Given the description of an element on the screen output the (x, y) to click on. 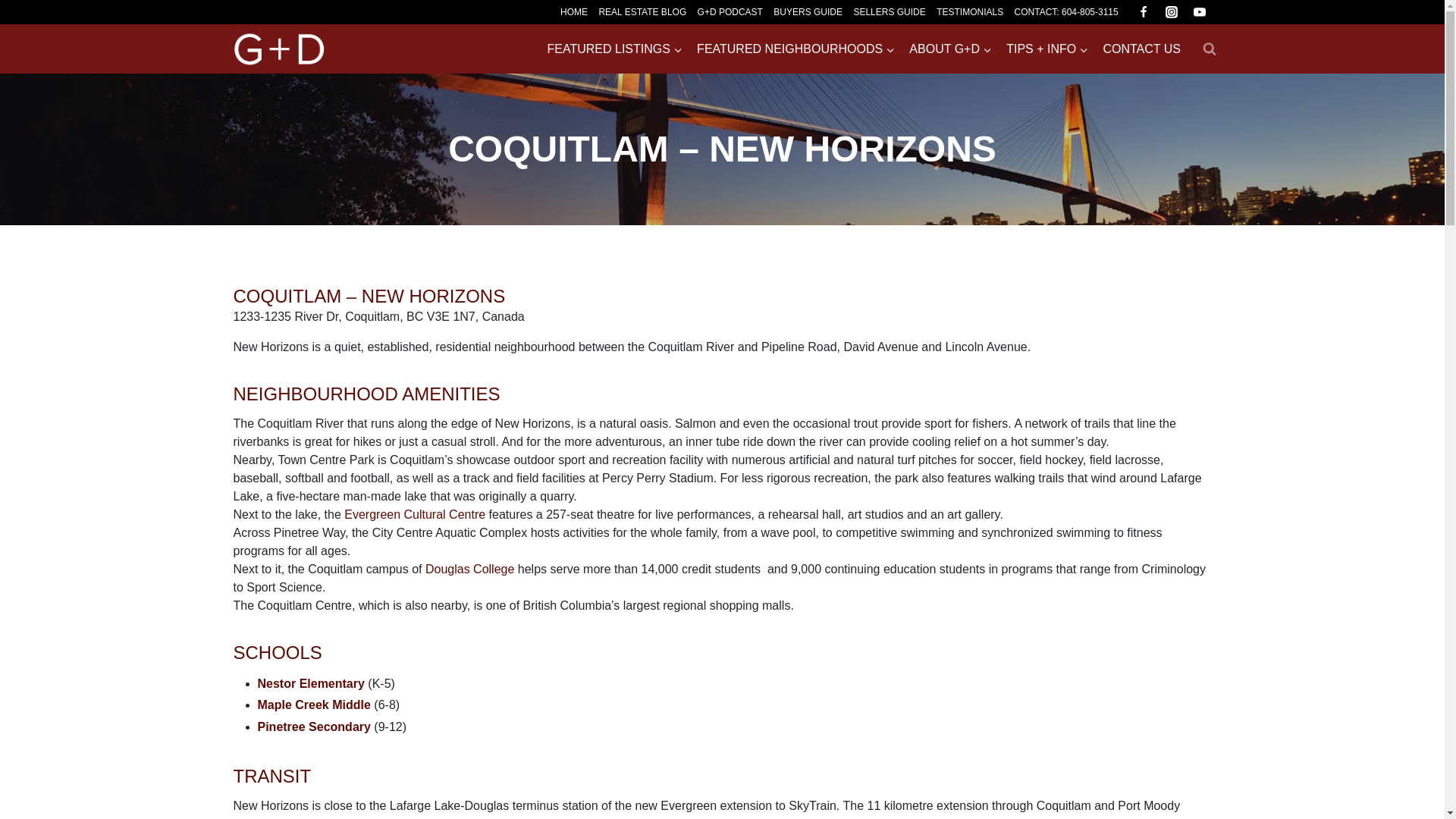
HOME (573, 12)
CONTACT: 604-805-3115 (1066, 12)
FEATURED LISTINGS (615, 48)
BUYERS GUIDE (807, 12)
SELLERS GUIDE (889, 12)
TESTIMONIALS (970, 12)
FEATURED NEIGHBOURHOODS (796, 48)
REAL ESTATE BLOG (641, 12)
